Given the description of an element on the screen output the (x, y) to click on. 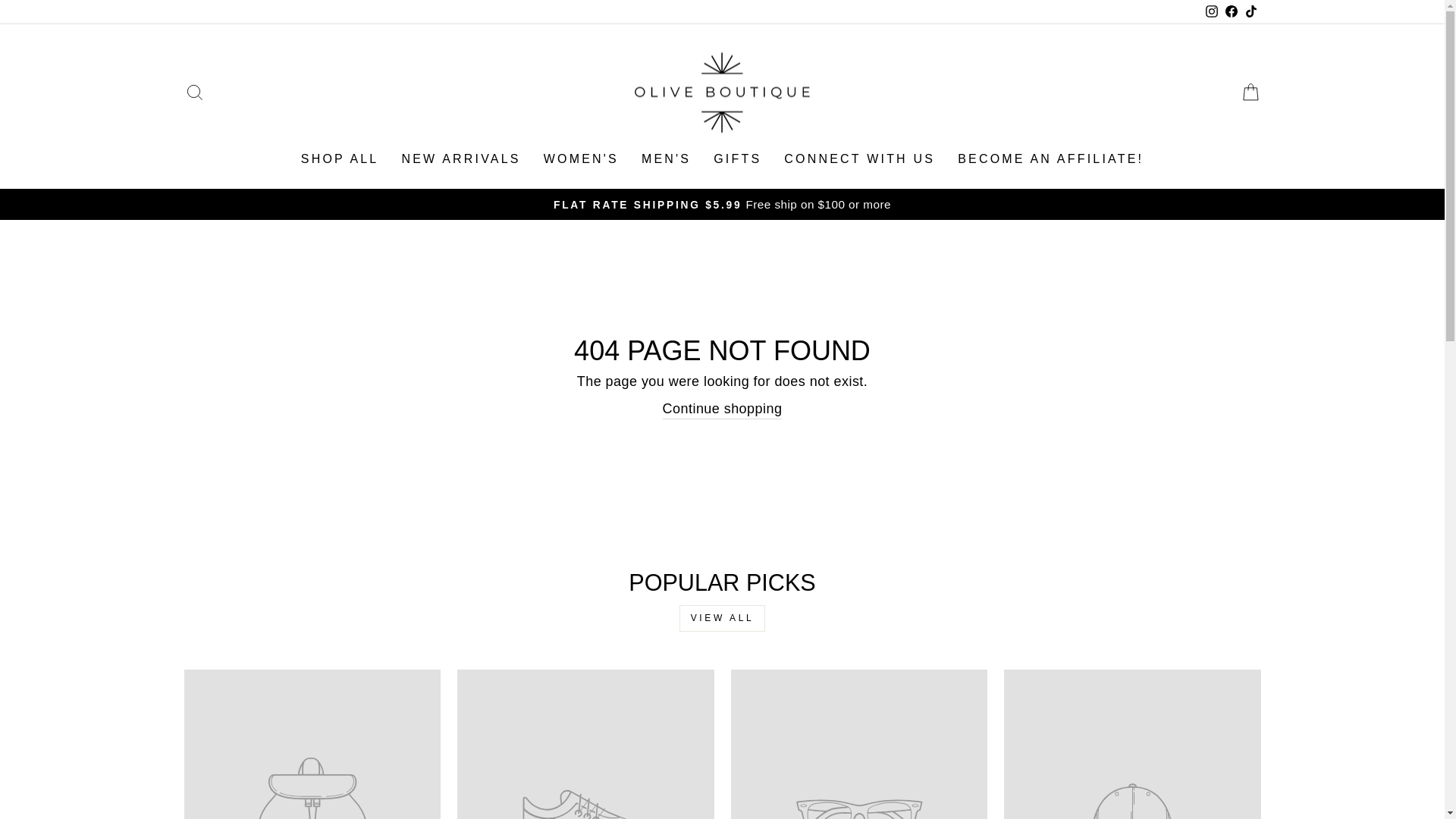
Olive Boutique on TikTok (1250, 11)
Olive Boutique on Instagram (1211, 11)
Olive Boutique on Facebook (1230, 11)
